Given the description of an element on the screen output the (x, y) to click on. 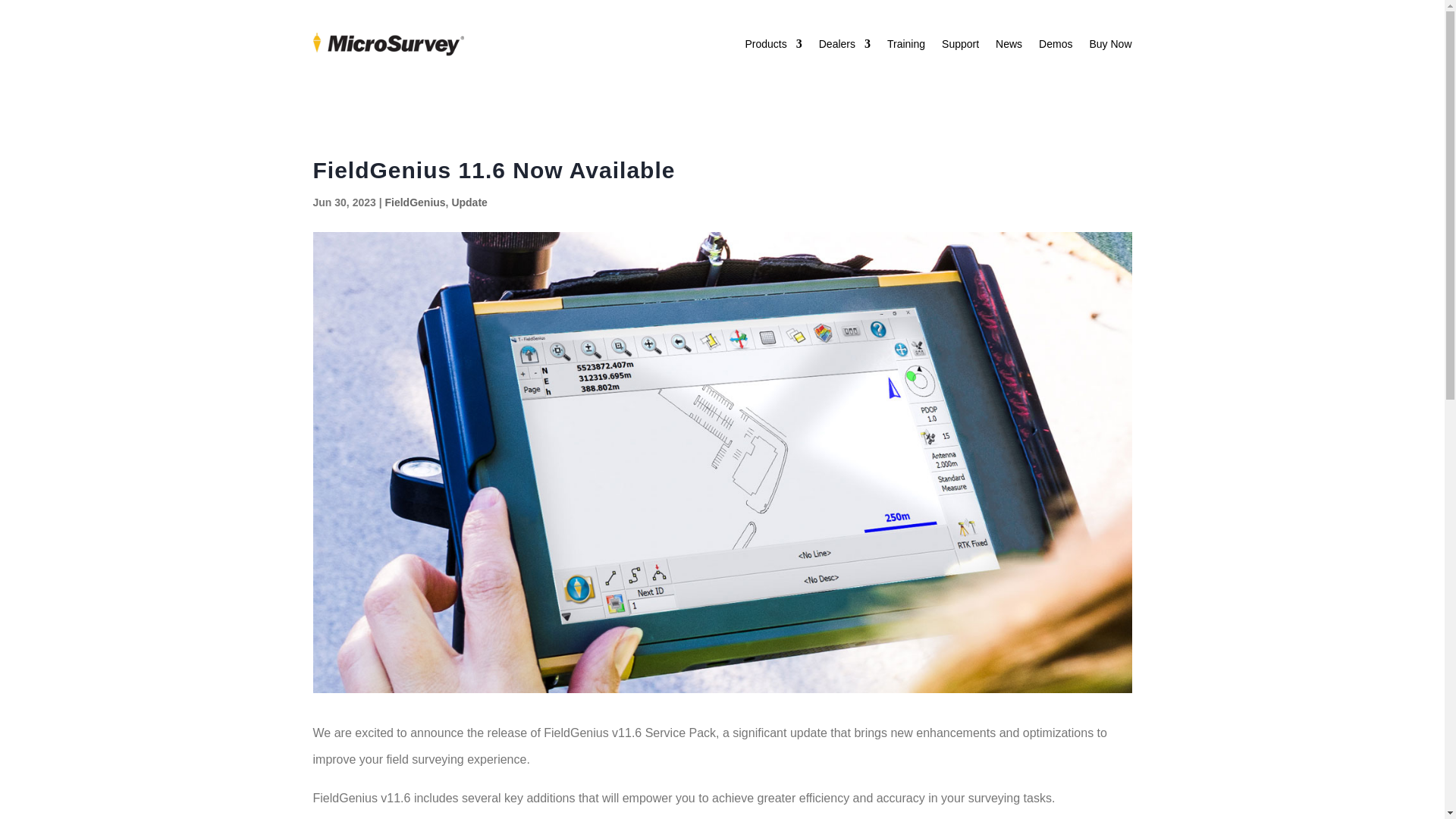
Products (773, 43)
Update (468, 202)
FieldGenius (414, 202)
Dealers (844, 43)
